Given the description of an element on the screen output the (x, y) to click on. 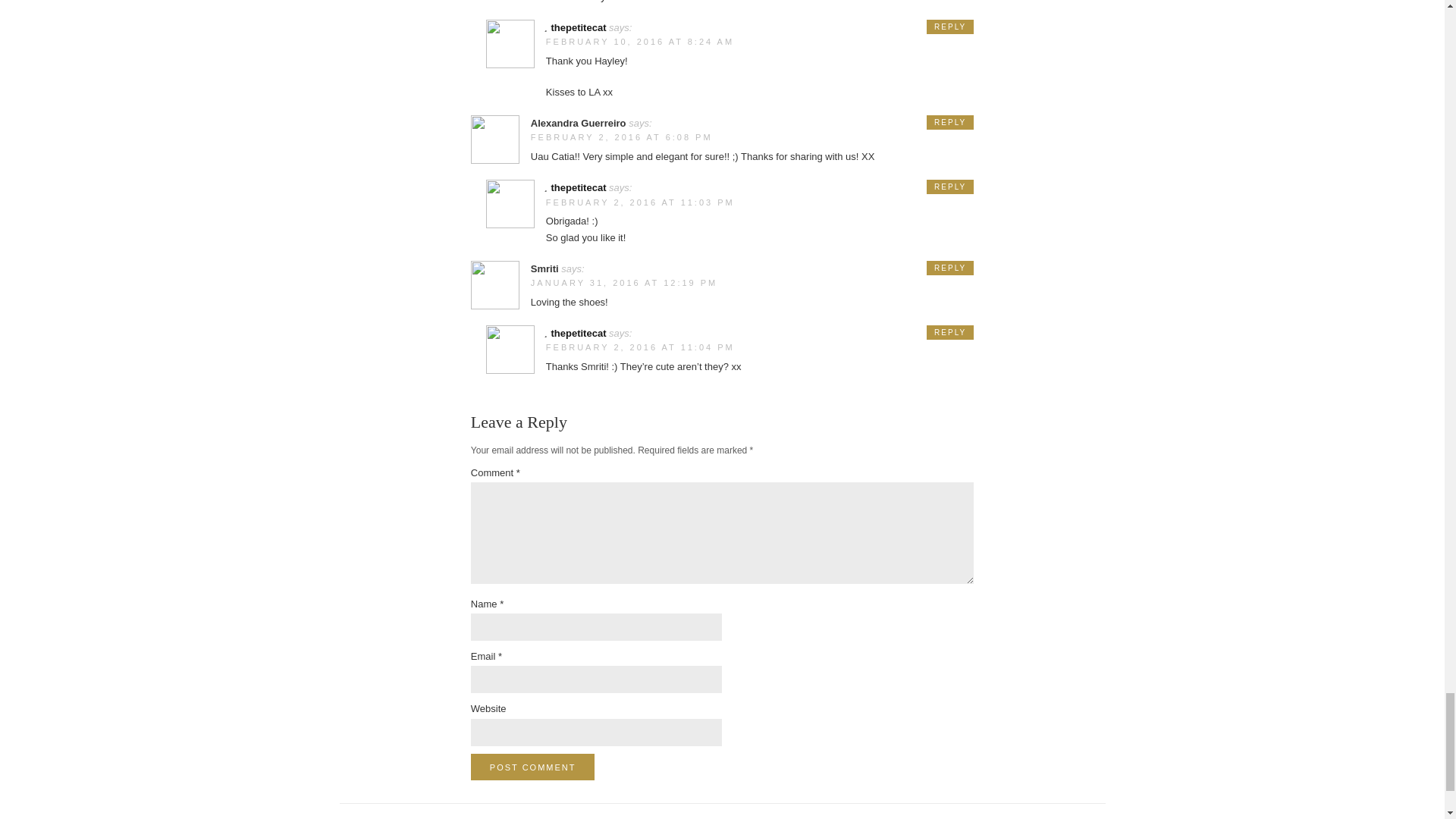
Post Comment (532, 766)
